Given the description of an element on the screen output the (x, y) to click on. 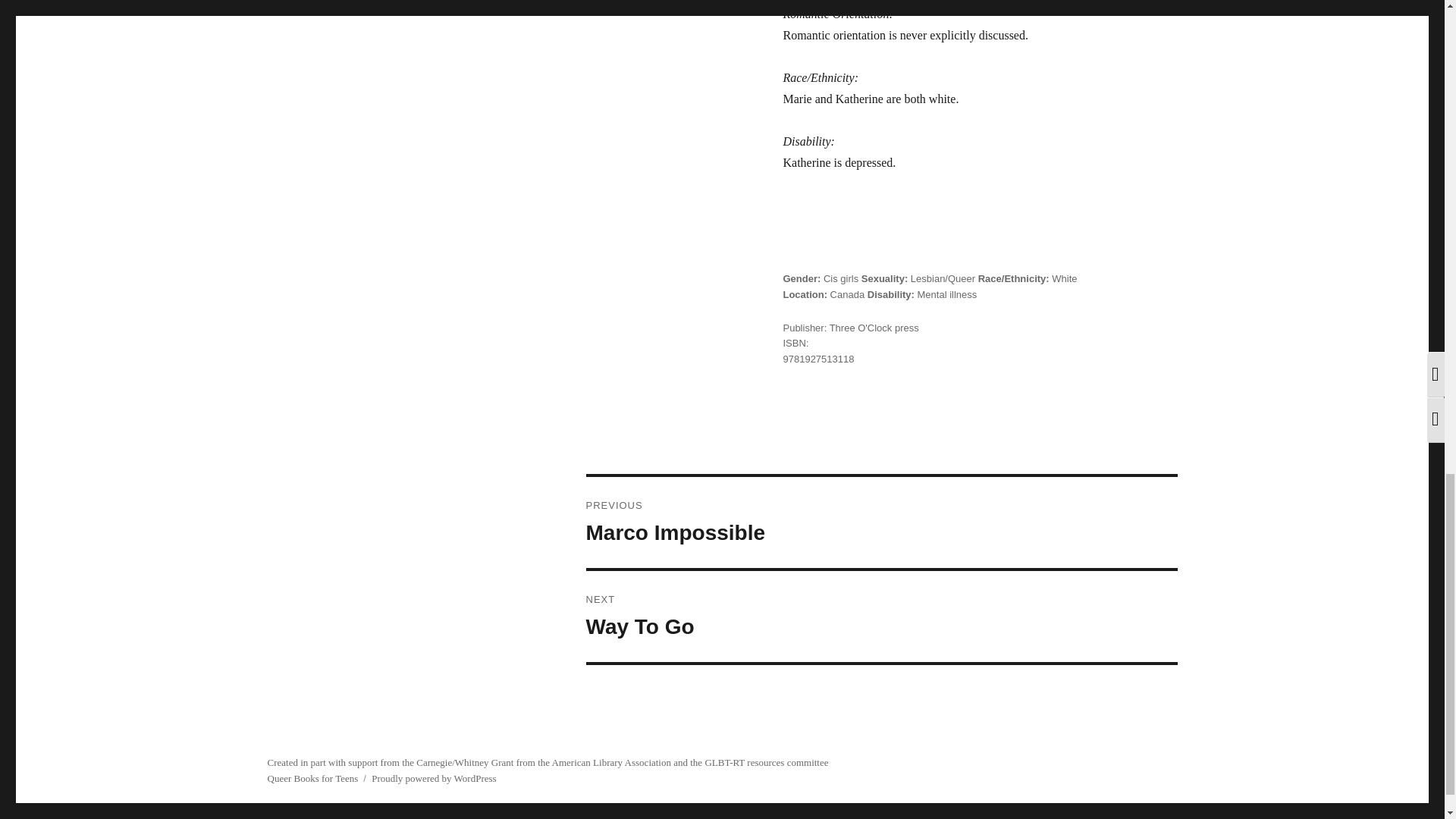
White (1064, 278)
Mental illness (946, 294)
Canada (846, 294)
Cis girls (841, 278)
